Given the description of an element on the screen output the (x, y) to click on. 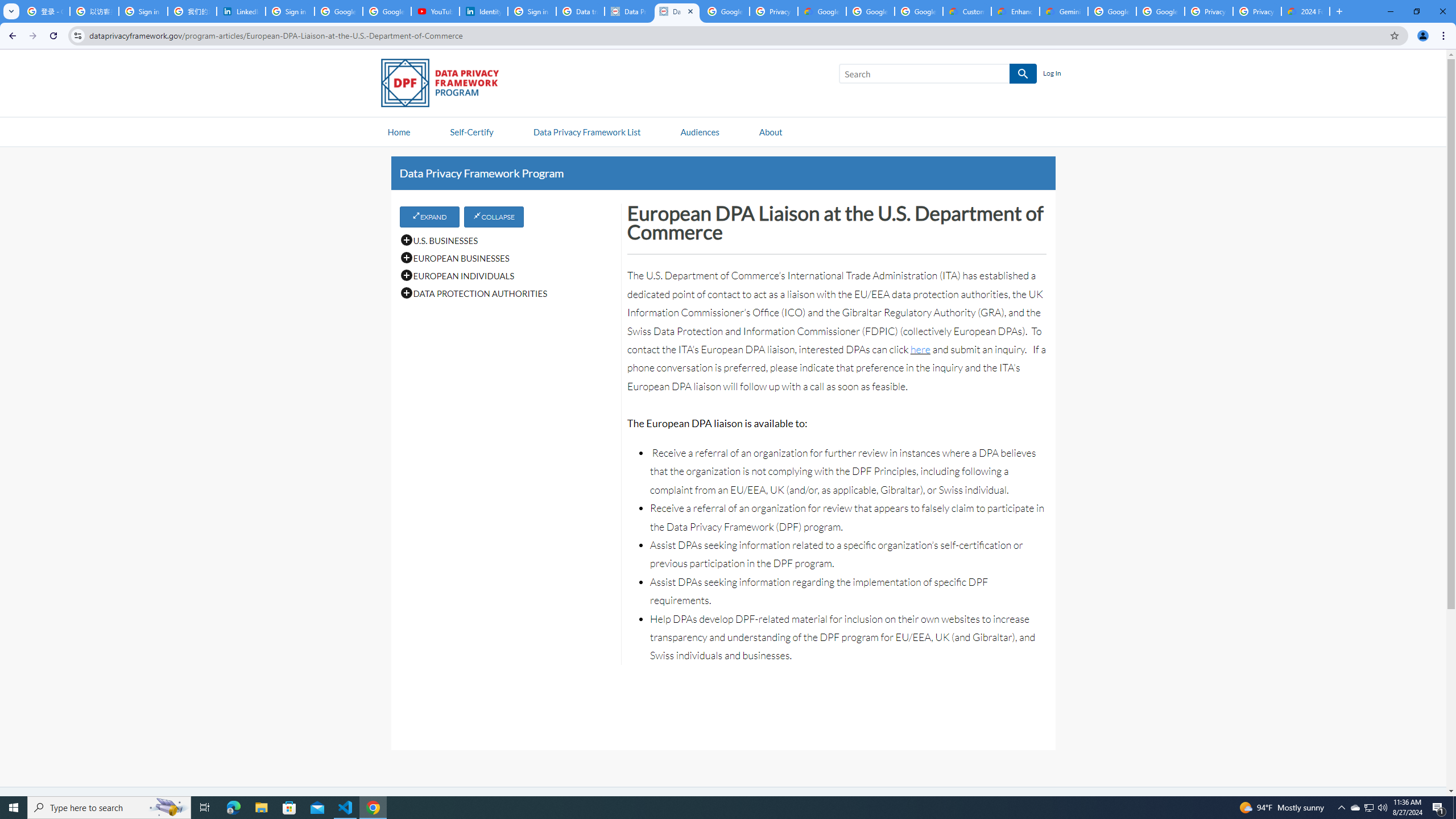
Log In (1051, 73)
SEARCH (1022, 73)
COLLAPSE (494, 216)
Self-Certify (471, 131)
Data Privacy Framework Logo - Link to Homepage (445, 85)
Google Workspace - Specific Terms (870, 11)
Sign in - Google Accounts (290, 11)
